Given the description of an element on the screen output the (x, y) to click on. 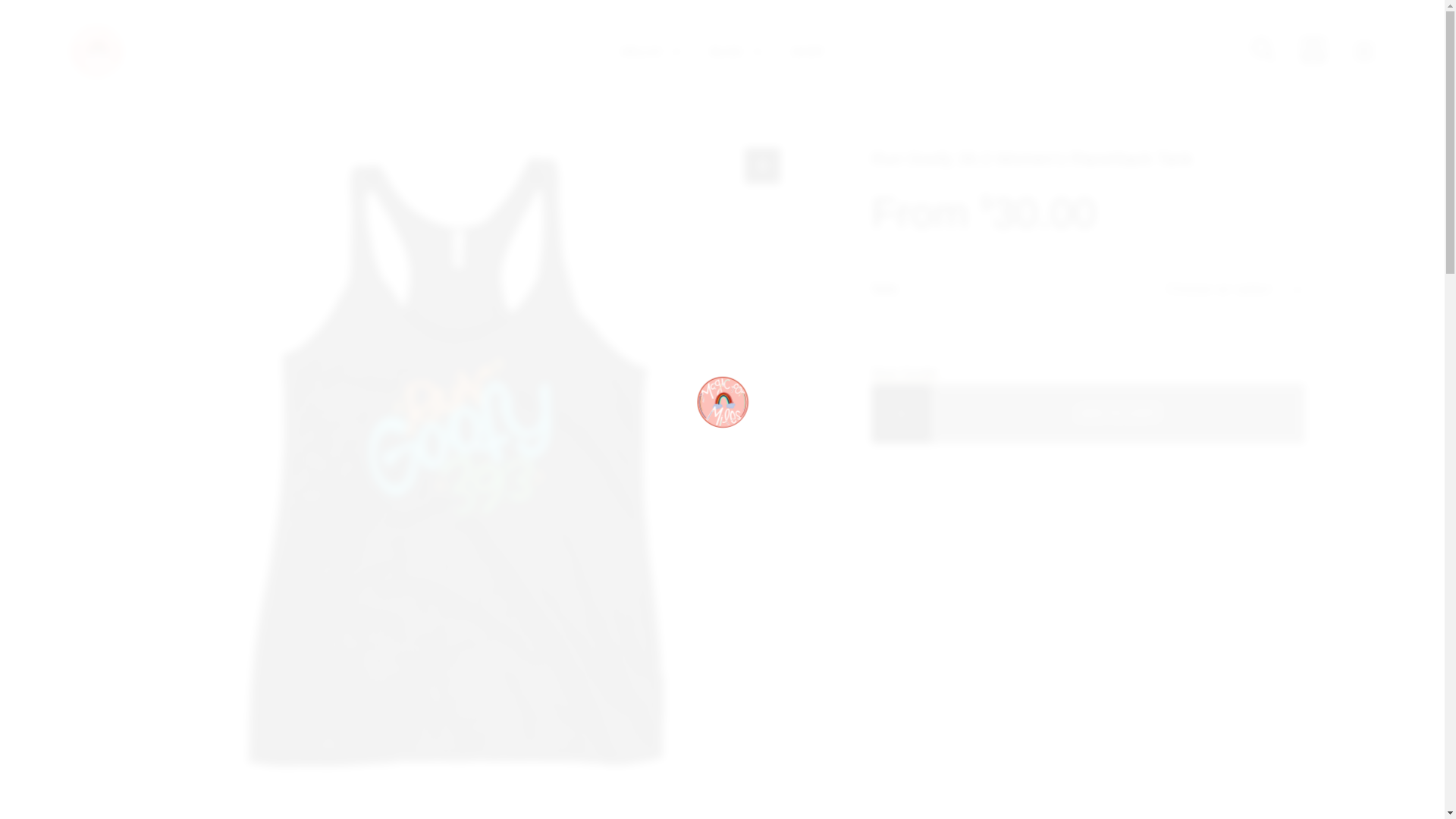
BLOG (726, 51)
MOBILE MENU TOGGLE (1363, 51)
MENU TOGGLE (676, 52)
SHOP (807, 51)
SEARCH TOGGLE (1262, 49)
GO TO MY ACCOUNT (1312, 49)
Search (982, 409)
1 (900, 413)
HELLO! (640, 51)
MENU TOGGLE (757, 52)
